Given the description of an element on the screen output the (x, y) to click on. 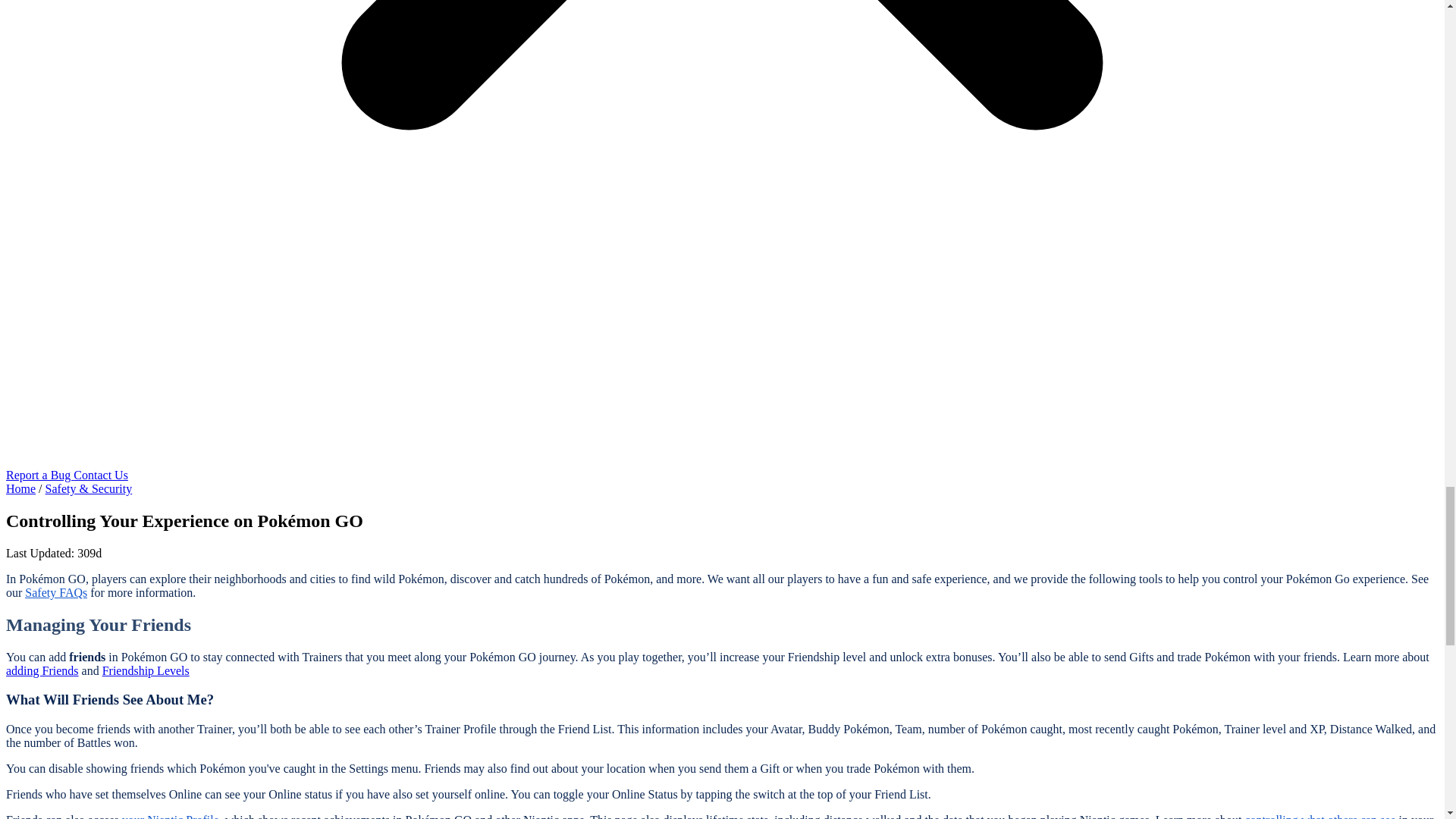
Friendship Levels (145, 670)
controlling what others can see (1320, 816)
Report a Bug (39, 474)
Contact Us (101, 474)
Safety FAQs (55, 592)
Home (19, 488)
adding Friends (41, 670)
your Niantic Profile (170, 816)
